Given the description of an element on the screen output the (x, y) to click on. 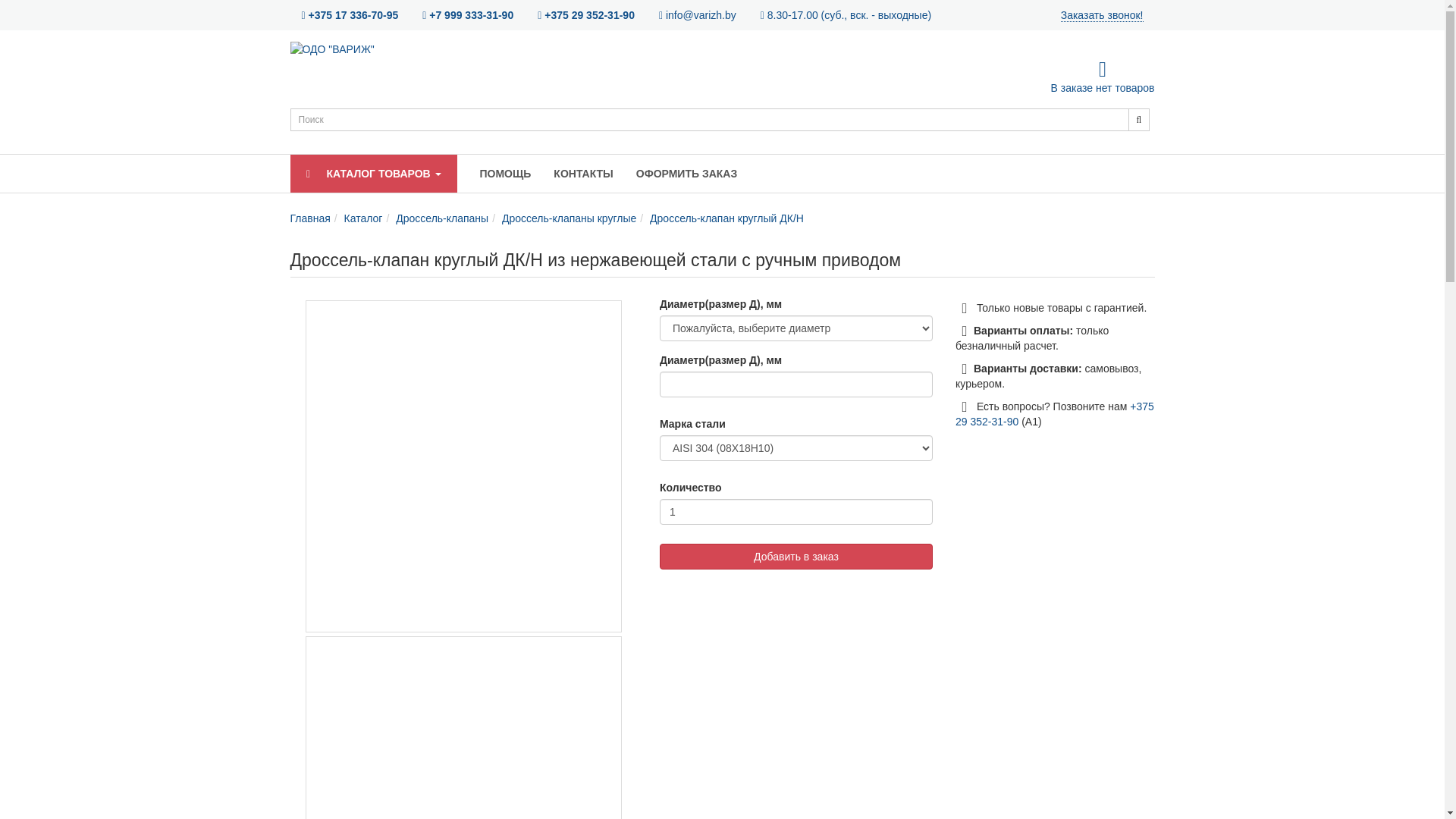
+375 17 336-70-95 Element type: text (349, 15)
+7 999 333-31-90 Element type: text (467, 15)
+375 29 352-31-90 Element type: text (586, 15)
info@varizh.by Element type: text (697, 15)
+375 29 352-31-90 Element type: text (1054, 413)
